Given the description of an element on the screen output the (x, y) to click on. 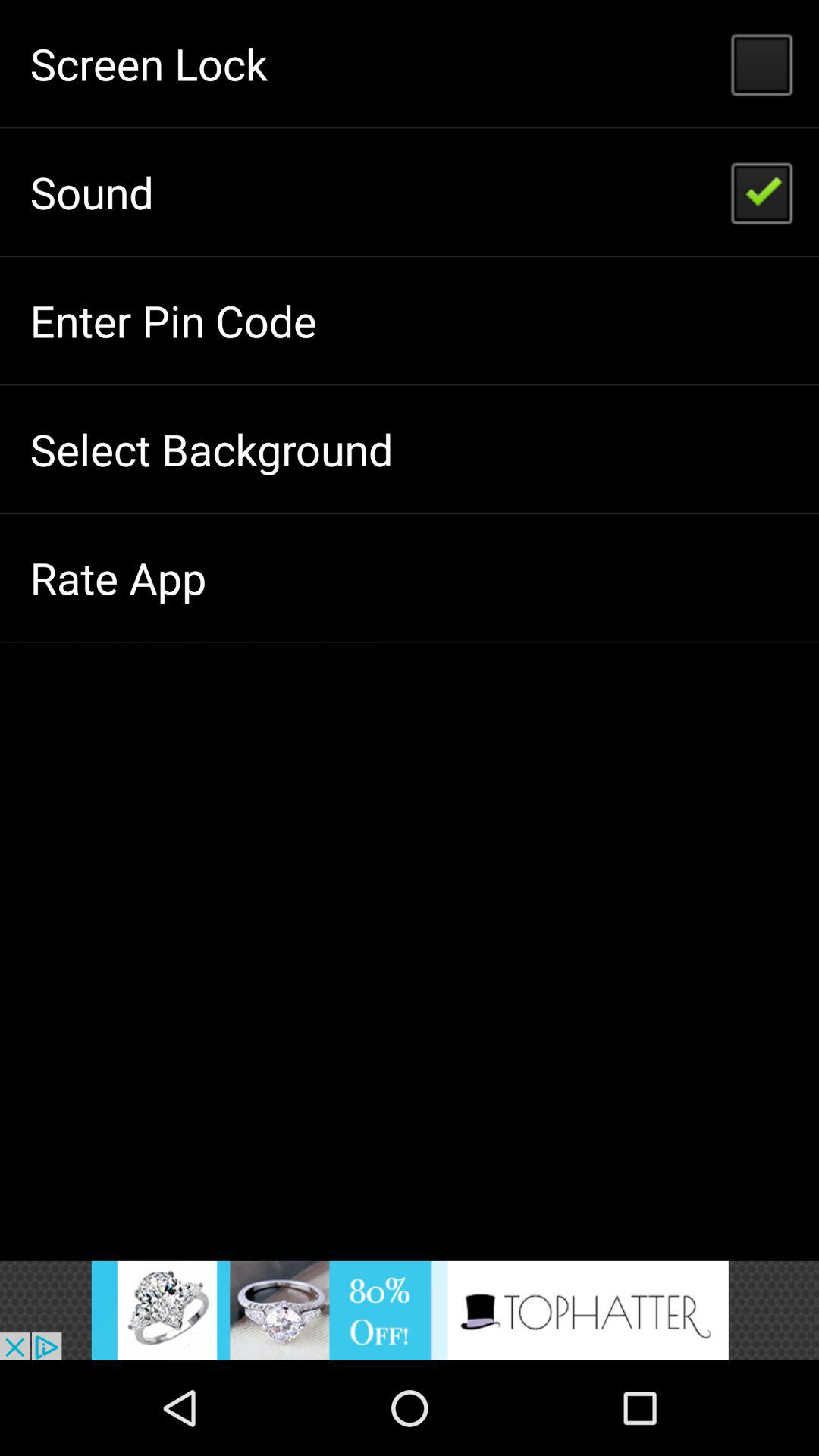
open advertisement (409, 1310)
